Given the description of an element on the screen output the (x, y) to click on. 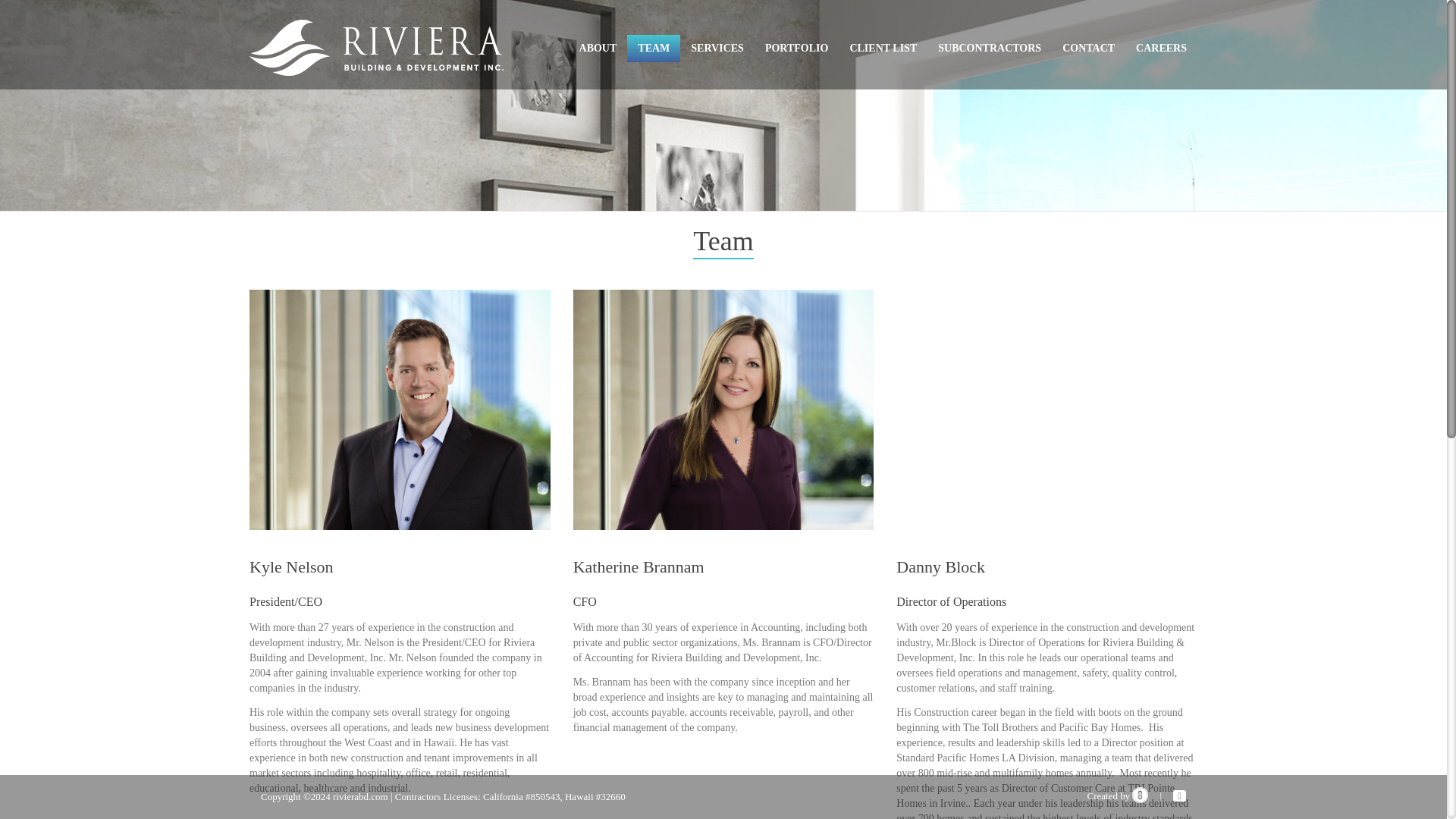
Client List (882, 48)
CLIENT LIST (882, 48)
PORTFOLIO (796, 48)
Portfolio (796, 48)
Subcontractors (989, 48)
Created by (1117, 795)
SUBCONTRACTORS (989, 48)
Riviera (375, 47)
rivierabd.com (360, 796)
